Given the description of an element on the screen output the (x, y) to click on. 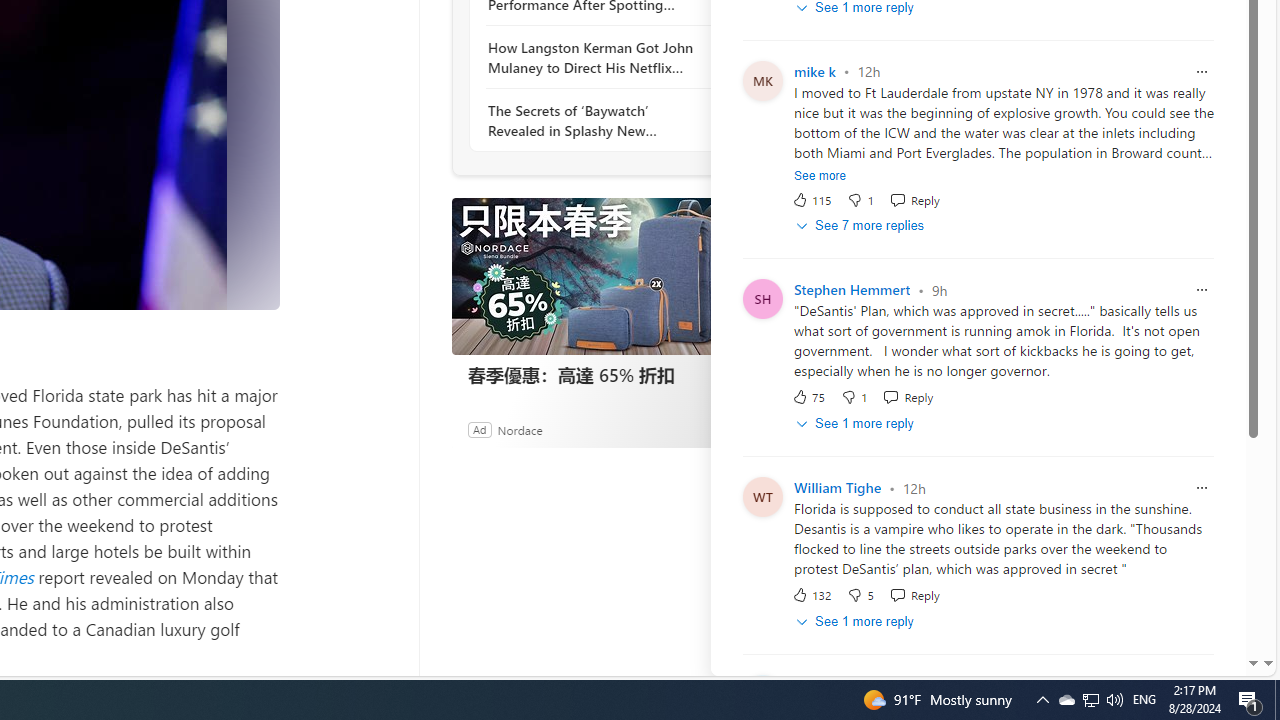
75 Like (808, 397)
Reply Reply Comment (914, 595)
See more (820, 175)
Stephen Hemmert (852, 290)
115 Like (811, 199)
See 1 more reply (855, 621)
See 7 more replies (861, 226)
mark oconnor (838, 685)
Ad (479, 429)
